Given the description of an element on the screen output the (x, y) to click on. 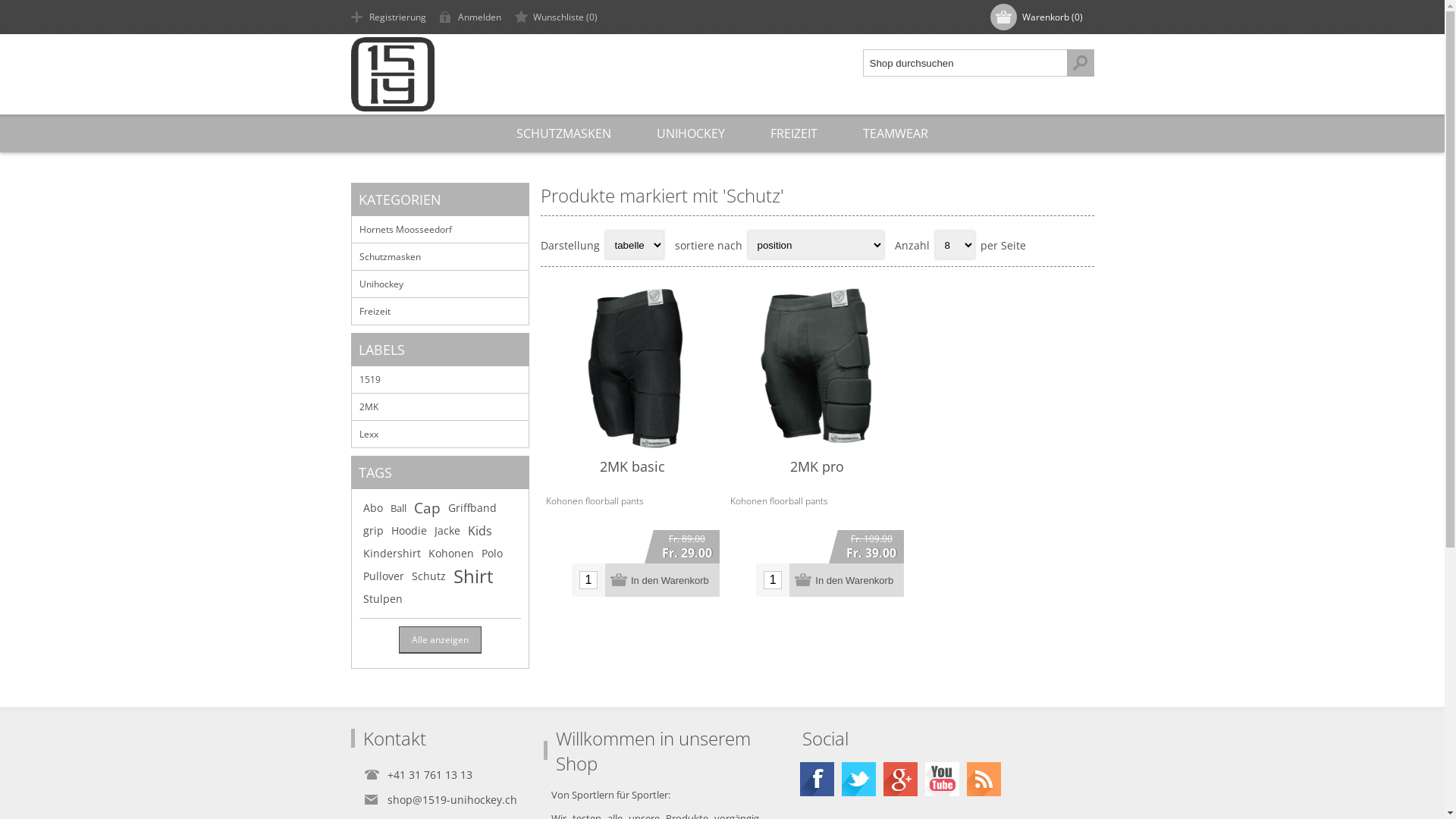
Unihockey Element type: text (439, 283)
2MK Element type: text (439, 406)
Jacke Element type: text (446, 530)
Hornets Moosseedorf Element type: text (439, 229)
Pullover Element type: text (382, 575)
2MK basic Element type: text (632, 466)
Abo Element type: text (372, 507)
Kohonen Element type: text (450, 553)
Griffband Element type: text (471, 507)
FREIZEIT Element type: text (793, 133)
Anmelden Element type: text (472, 16)
Wunschliste (0) Element type: text (557, 16)
grip Element type: text (372, 530)
Schutz Element type: text (428, 575)
Polo Element type: text (491, 553)
2MK pro Element type: text (816, 466)
UNIHOCKEY Element type: text (690, 133)
TEAMWEAR Element type: text (895, 133)
Cap Element type: text (427, 507)
Ball Element type: text (397, 507)
Suche Element type: text (1079, 62)
Warenkorb (0) Element type: text (1038, 17)
Freizeit Element type: text (439, 310)
Registrierung Element type: text (389, 16)
Shirt Element type: text (473, 575)
1519 Element type: text (439, 379)
Schutzmasken Element type: text (439, 255)
SCHUTZMASKEN Element type: text (563, 133)
Stulpen Element type: text (381, 598)
Kindershirt Element type: text (391, 553)
Hoodie Element type: text (408, 530)
Alle anzeigen Element type: text (439, 639)
Kids Element type: text (479, 530)
Lexx Element type: text (439, 433)
